Given the description of an element on the screen output the (x, y) to click on. 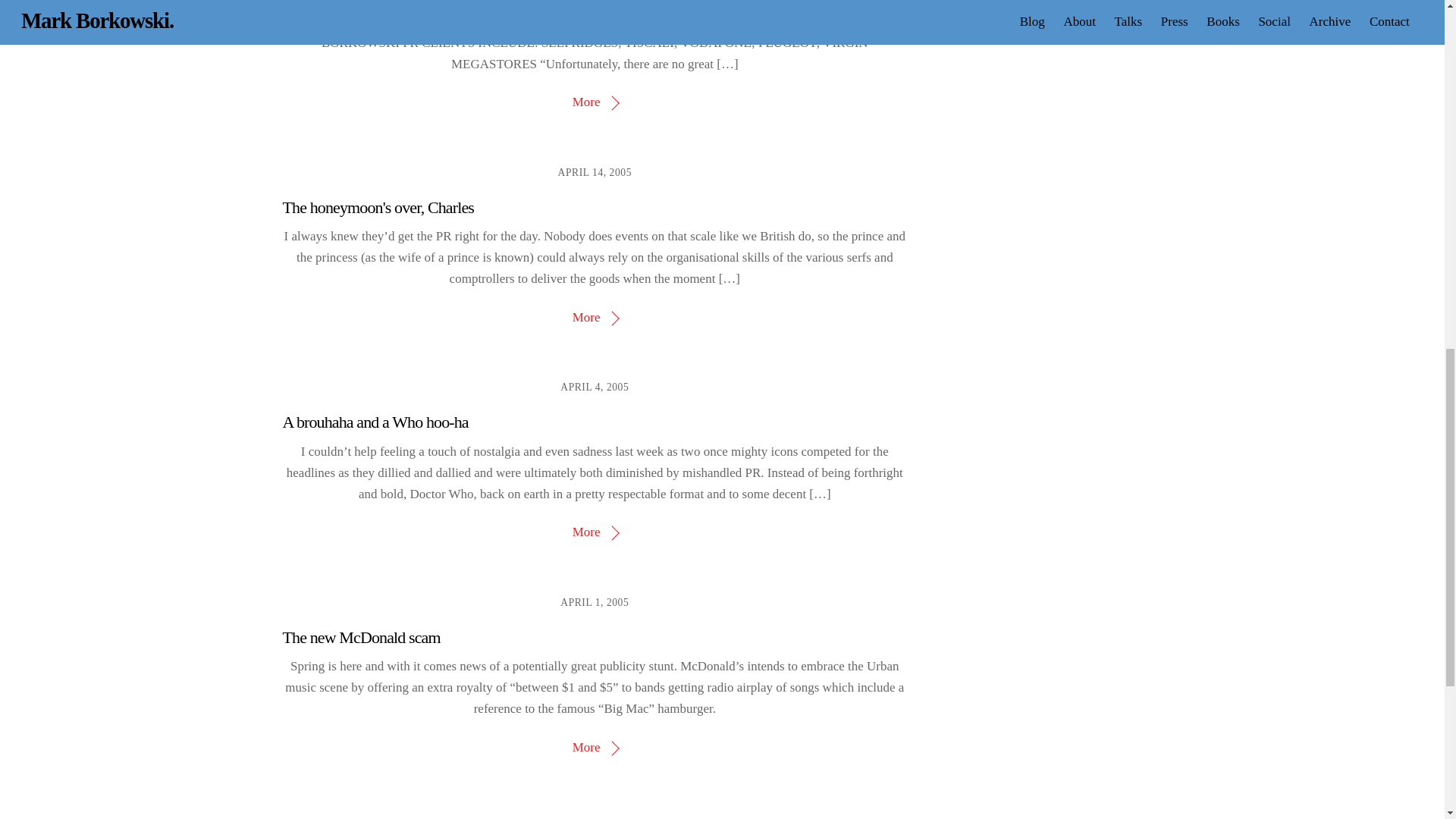
More (594, 317)
More (594, 531)
More (594, 747)
The new McDonald scam (360, 637)
A brouhaha and a Who hoo-ha (374, 421)
More (594, 101)
The honeymoon's over, Charles (378, 207)
